Given the description of an element on the screen output the (x, y) to click on. 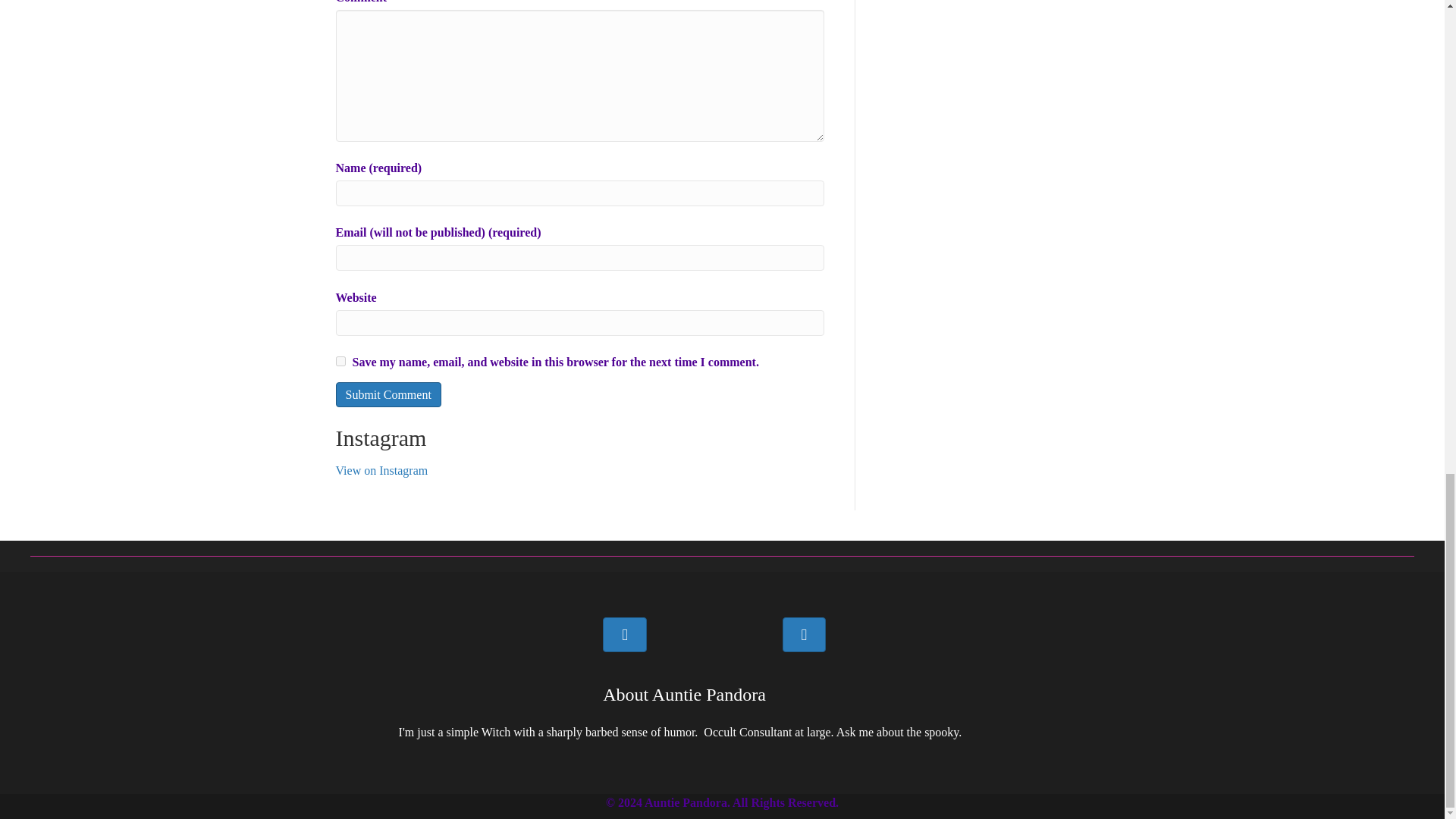
Submit Comment (387, 394)
Submit Comment (387, 394)
yes (339, 361)
